Given the description of an element on the screen output the (x, y) to click on. 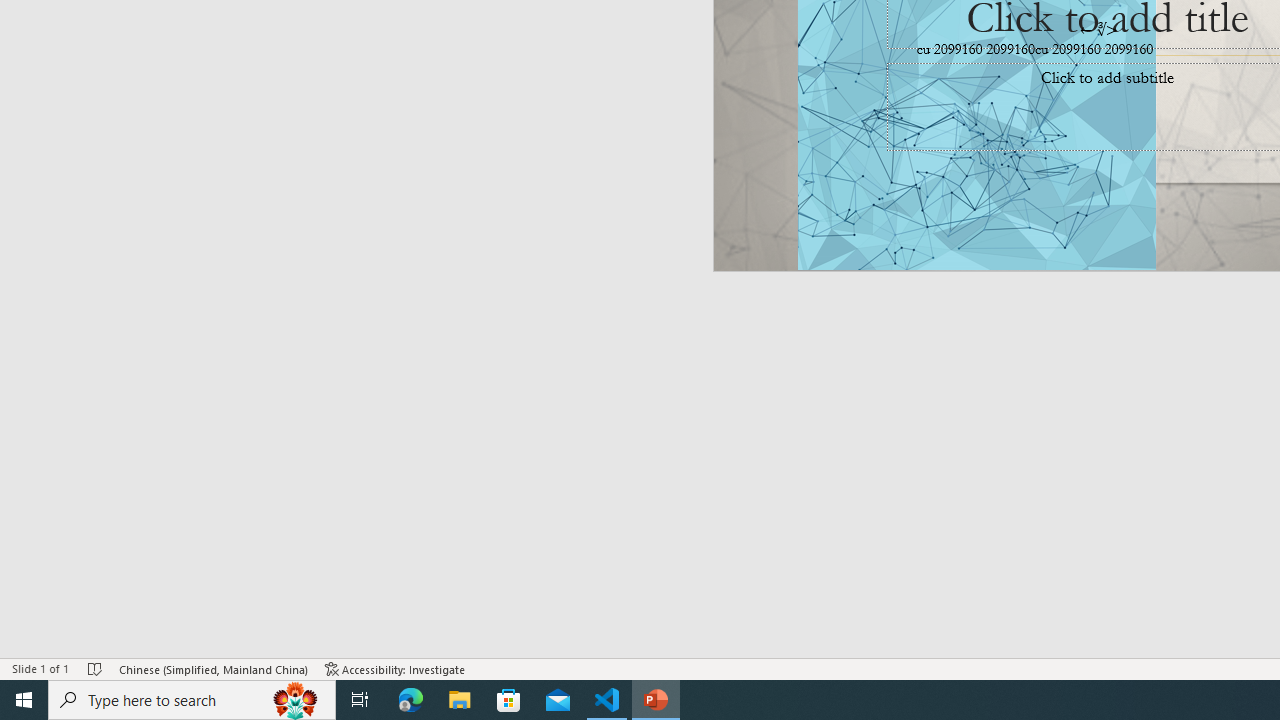
TextBox 7 (1099, 30)
